Given the description of an element on the screen output the (x, y) to click on. 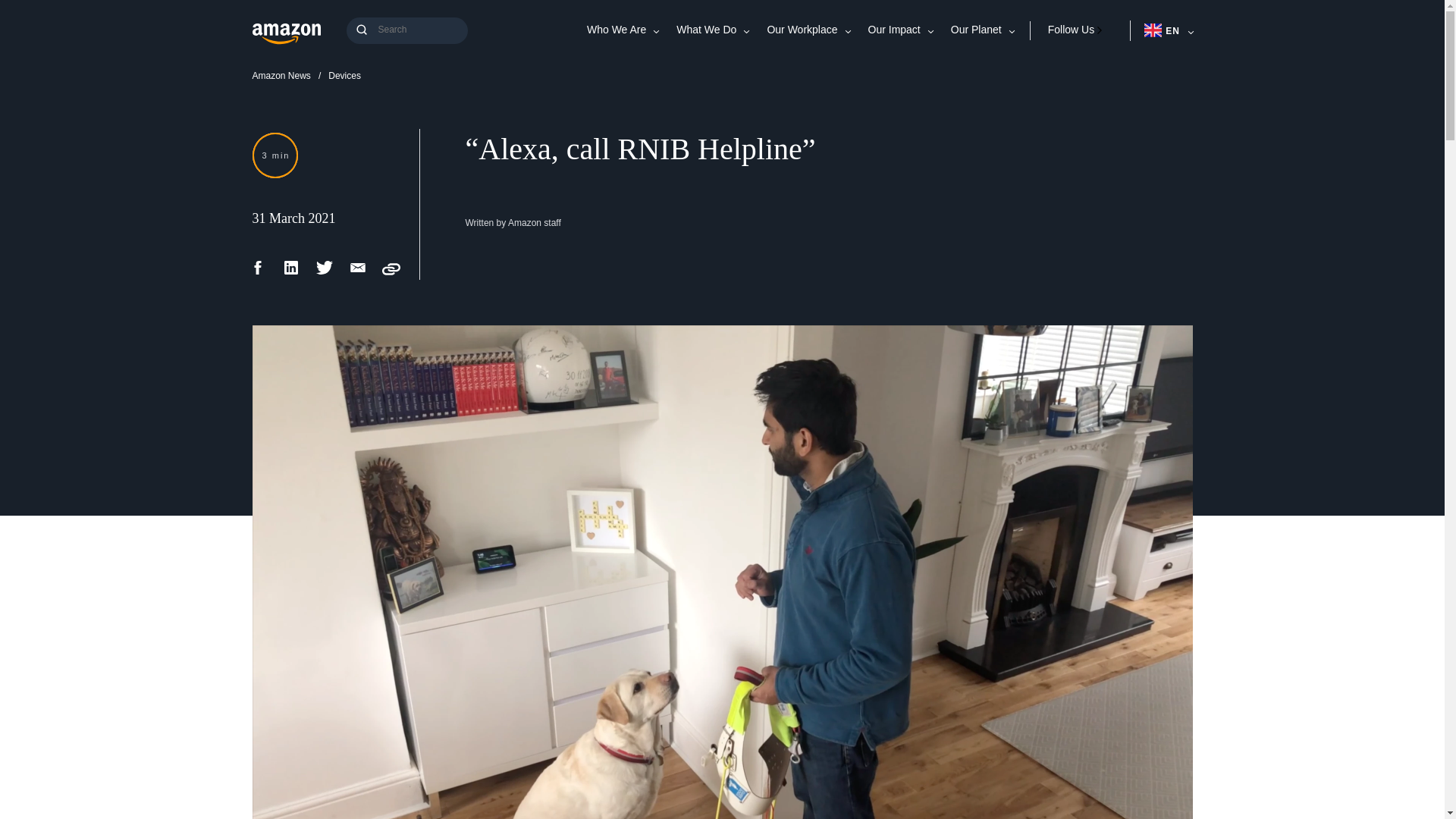
LinkedIn Share (290, 272)
Email Share (357, 272)
Facebook Share (257, 272)
Twitter Share (324, 272)
